Given the description of an element on the screen output the (x, y) to click on. 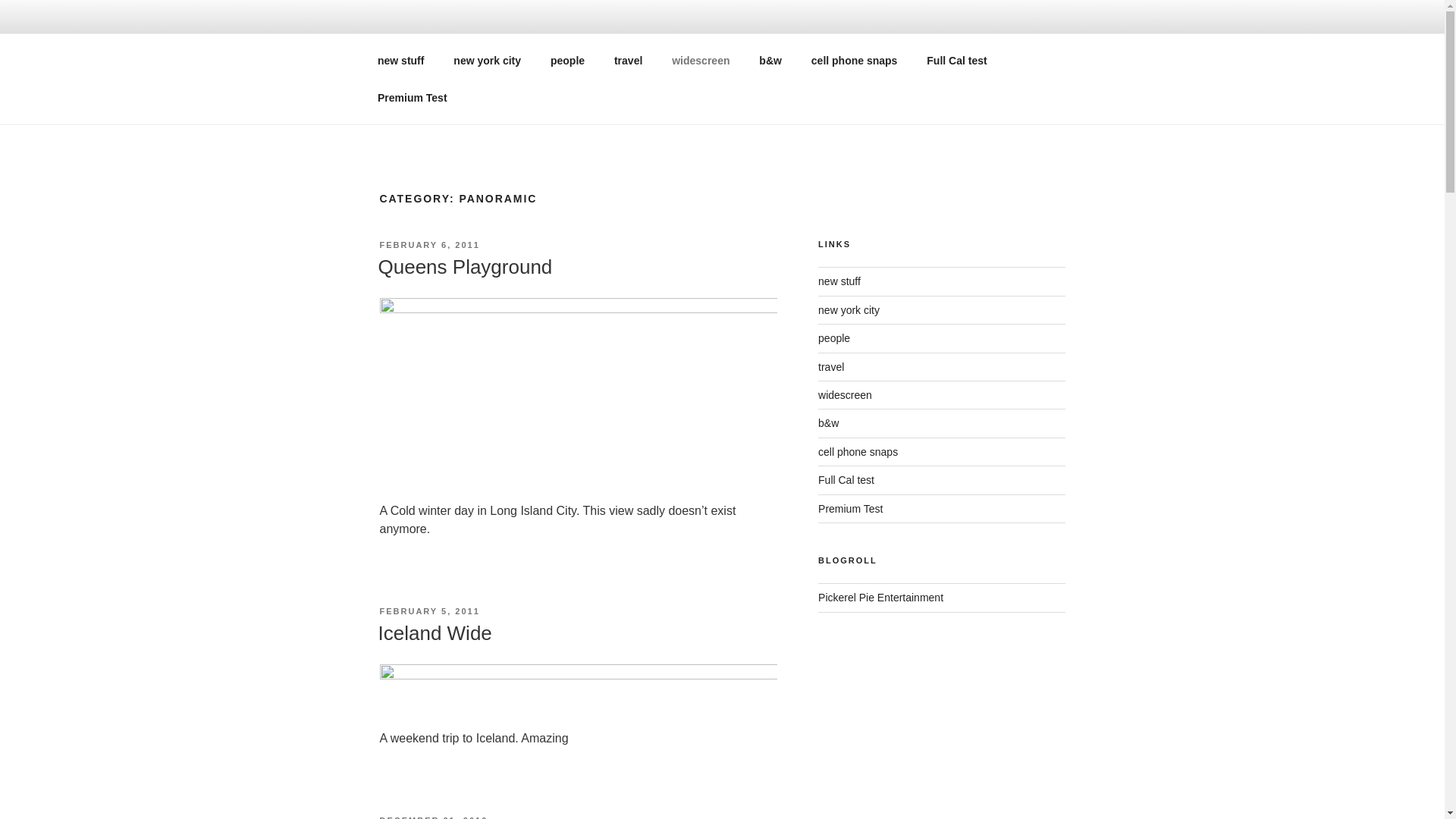
travel (627, 60)
FEBRUARY 6, 2011 (428, 244)
new york city (487, 60)
new stuff (400, 60)
where i spend my days (880, 597)
FEBRUARY 5, 2011 (428, 610)
Full Cal test (957, 60)
widescreen (700, 60)
Premium Test (412, 97)
people (566, 60)
